Given the description of an element on the screen output the (x, y) to click on. 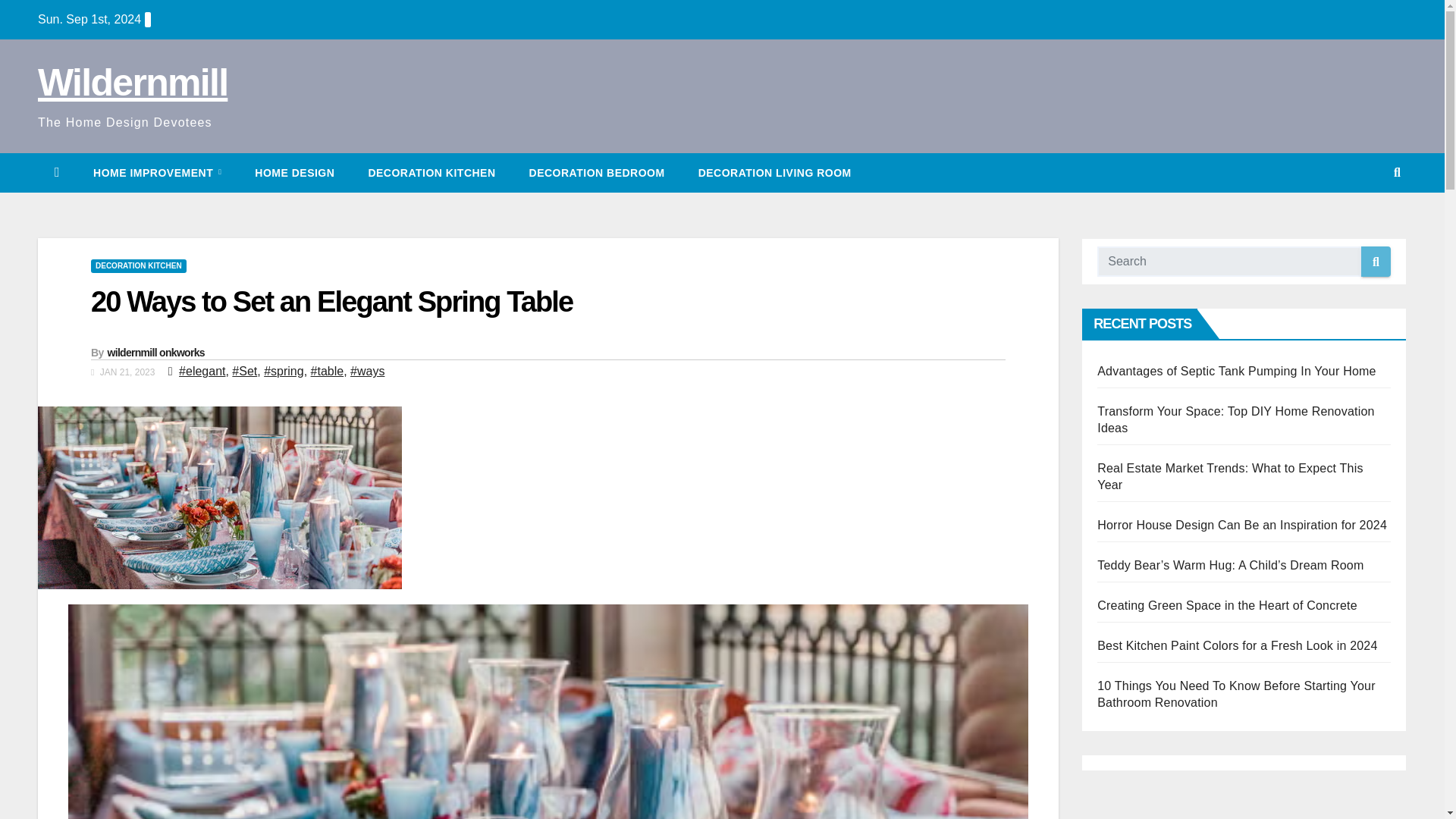
20 Ways to Set an Elegant Spring Table (331, 301)
Decoration Bedroom (596, 172)
DECORATION KITCHEN (138, 265)
DECORATION LIVING ROOM (774, 172)
Permalink to: 20 Ways to Set an Elegant Spring Table (331, 301)
HOME DESIGN (294, 172)
wildernmill onkworks (156, 352)
Decoration Living Room (774, 172)
HOME IMPROVEMENT (157, 172)
